Given the description of an element on the screen output the (x, y) to click on. 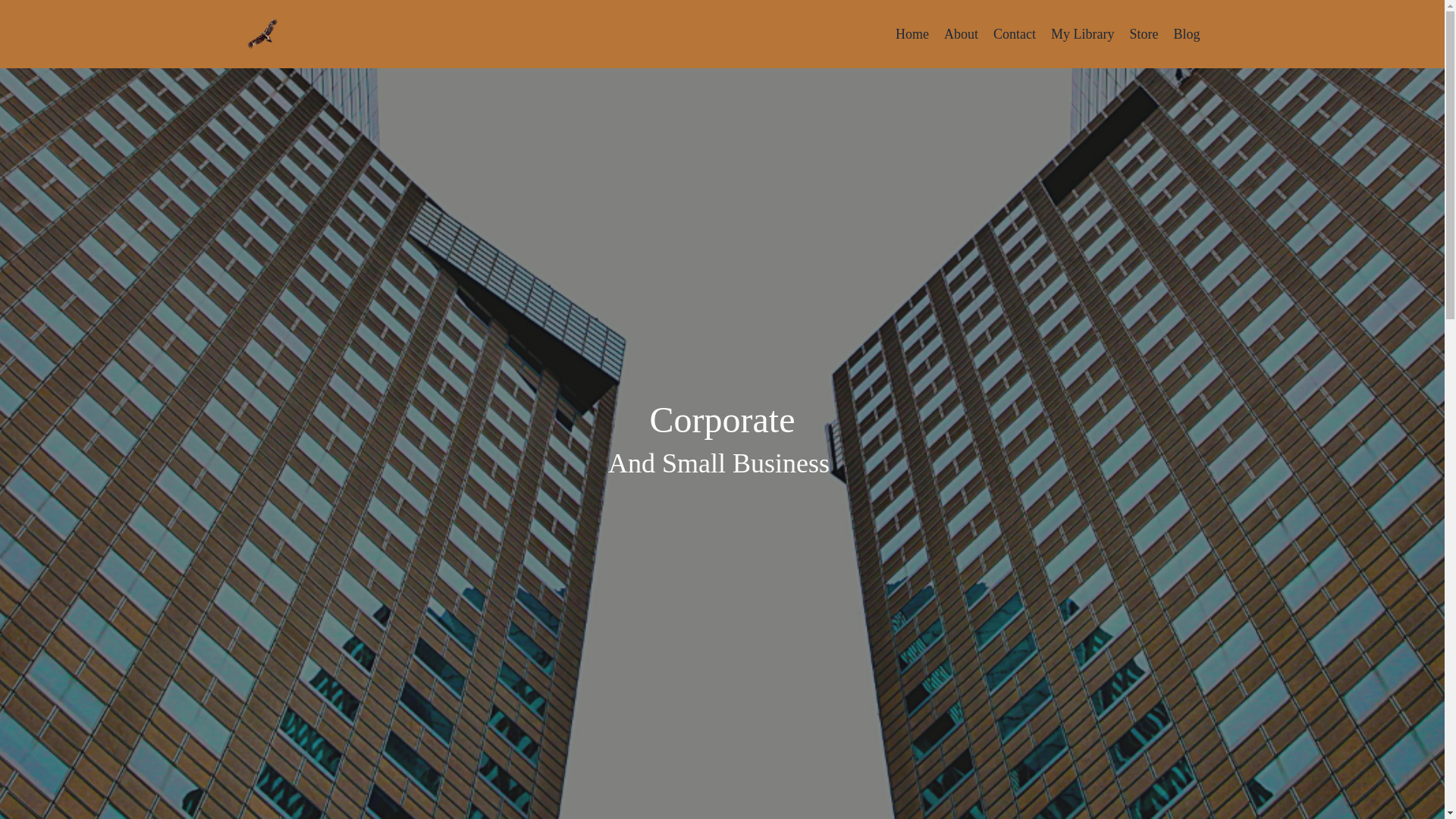
Home (911, 34)
Blog (1186, 34)
Contact (1013, 34)
My Library (1082, 34)
About (960, 34)
Store (1143, 34)
